Given the description of an element on the screen output the (x, y) to click on. 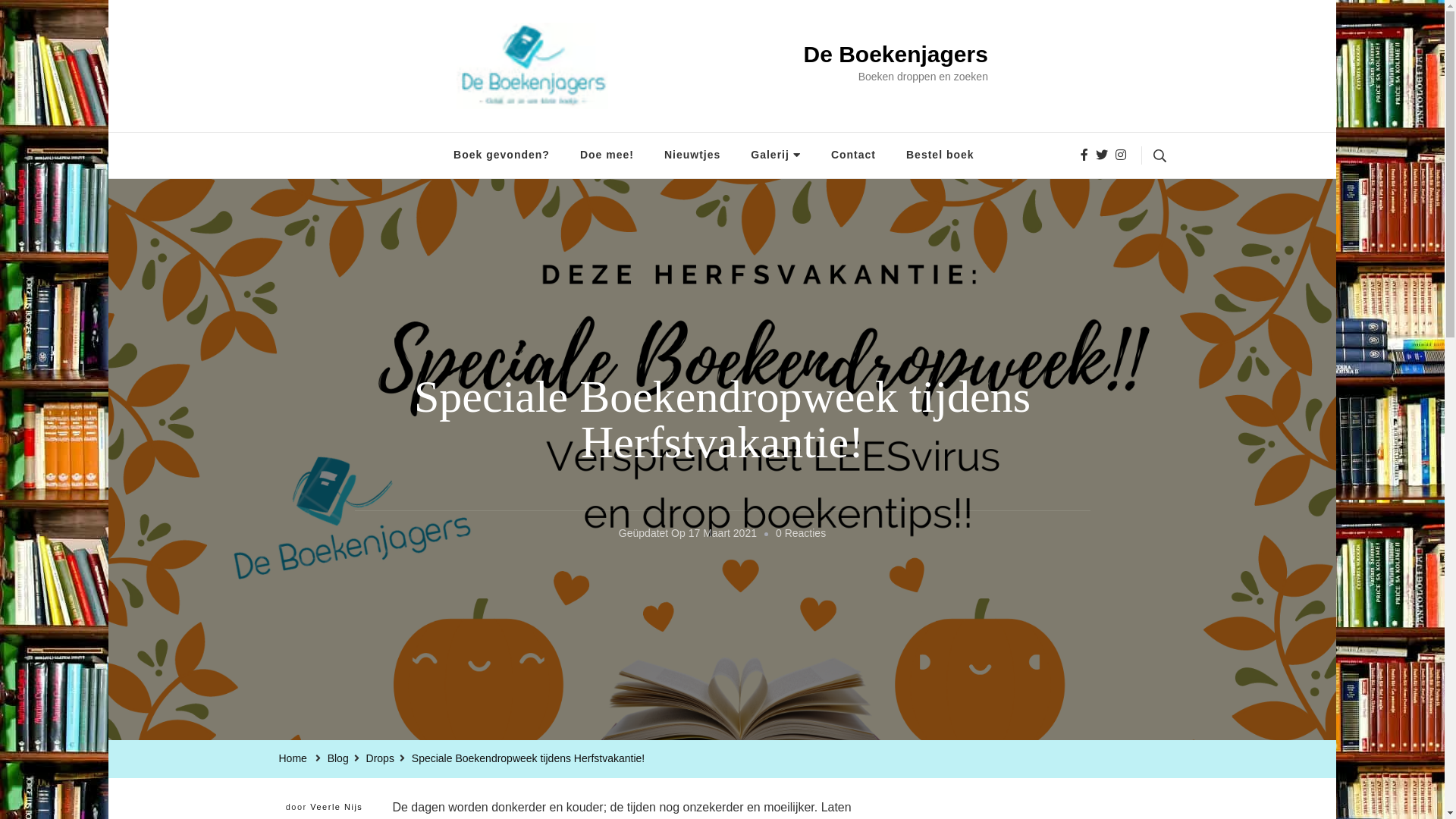
Contact Element type: text (853, 155)
Drops Element type: text (380, 758)
Galerij Element type: text (775, 155)
Boek gevonden? Element type: text (501, 155)
Blog Element type: text (337, 758)
17 Maart 2021 Element type: text (722, 533)
Doe mee! Element type: text (606, 155)
Speciale Boekendropweek tijdens Herfstvakantie! Element type: text (527, 758)
Home Element type: text (293, 758)
Nieuwtjes Element type: text (692, 155)
Bestel boek Element type: text (940, 155)
De Boekenjagers Element type: text (895, 53)
Veerle Nijs Element type: text (336, 806)
